Given the description of an element on the screen output the (x, y) to click on. 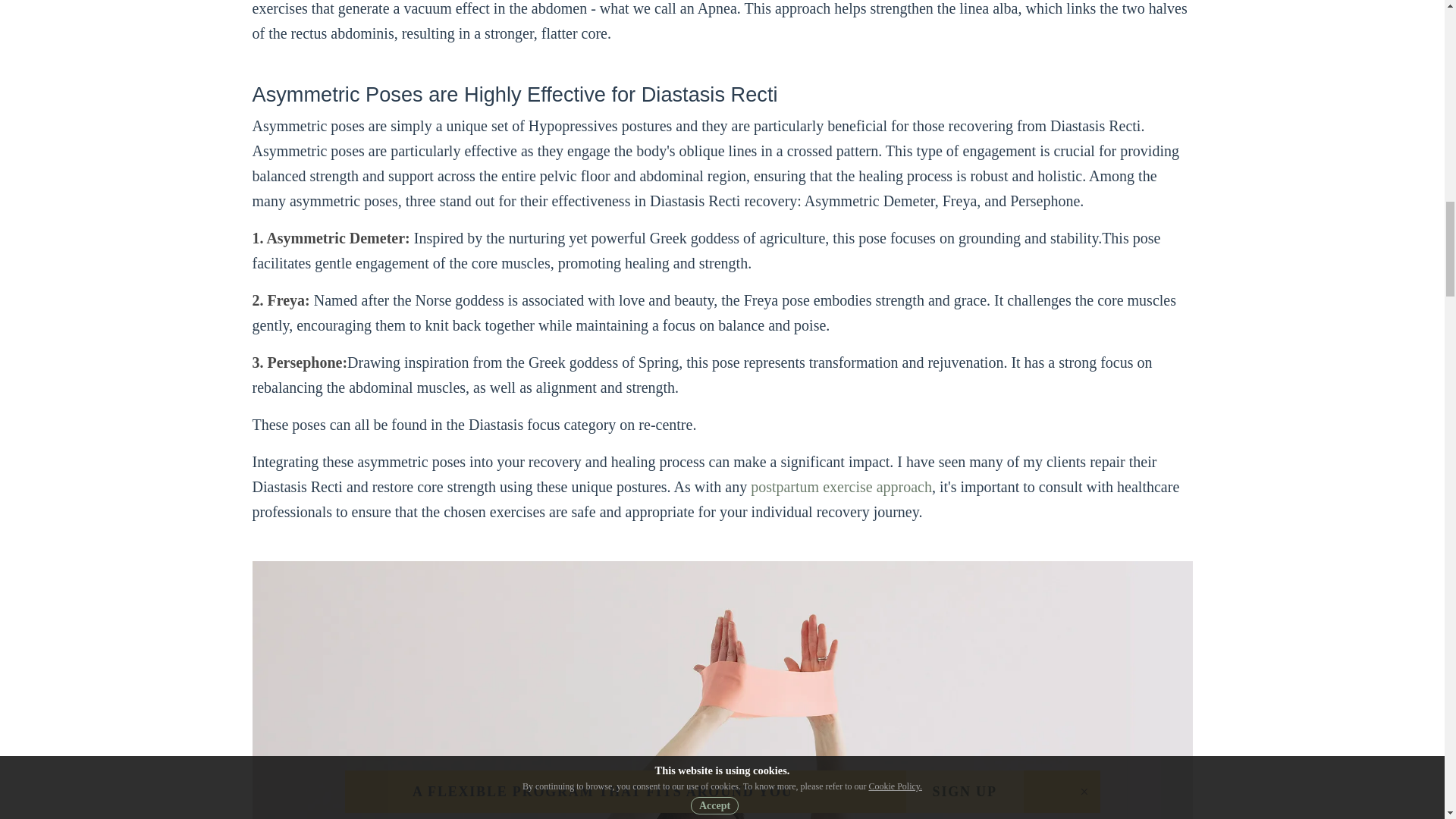
postpartum exercise approach (841, 486)
